Given the description of an element on the screen output the (x, y) to click on. 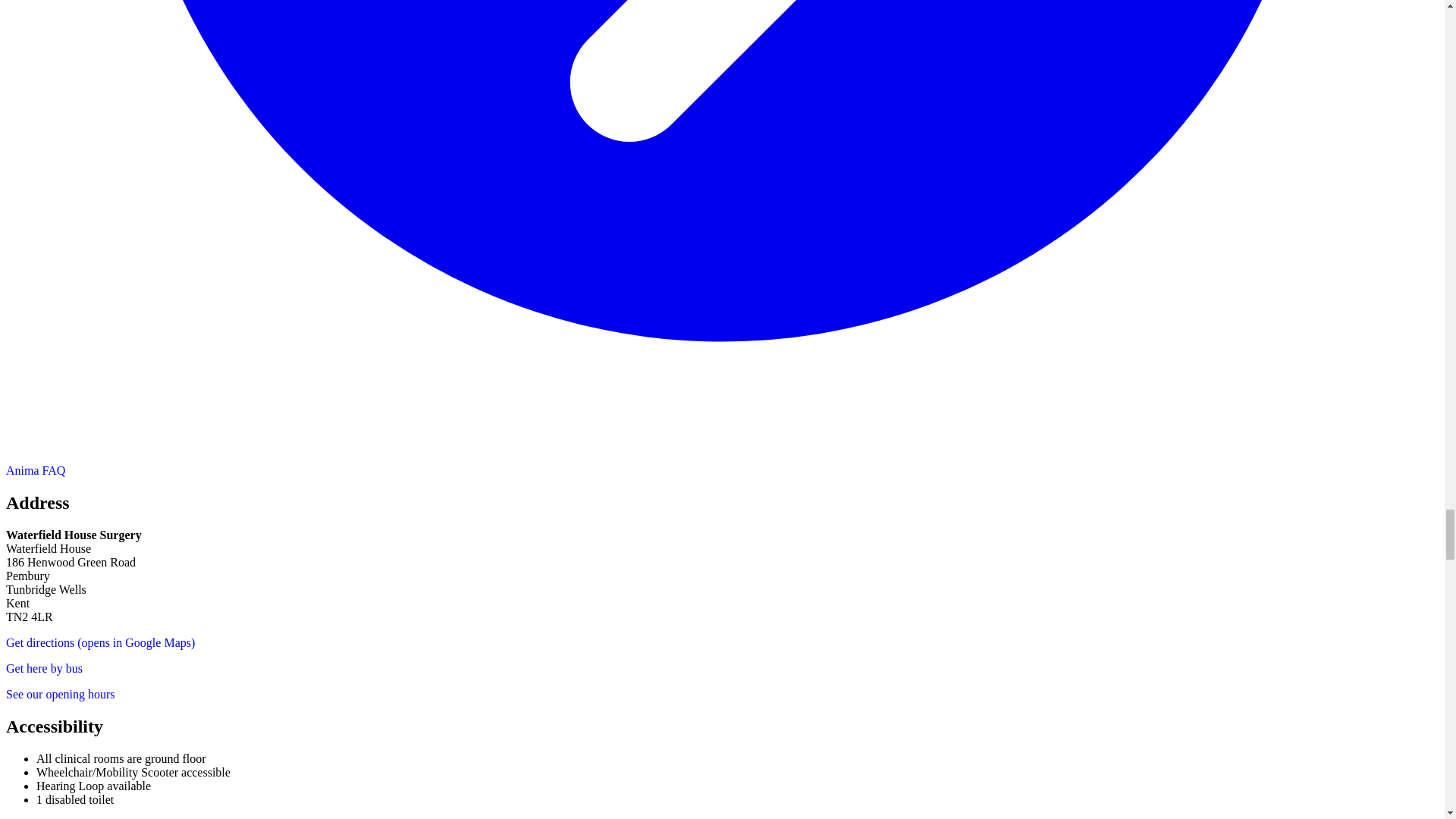
Get here by bus (43, 667)
See our opening hours (60, 694)
